Given the description of an element on the screen output the (x, y) to click on. 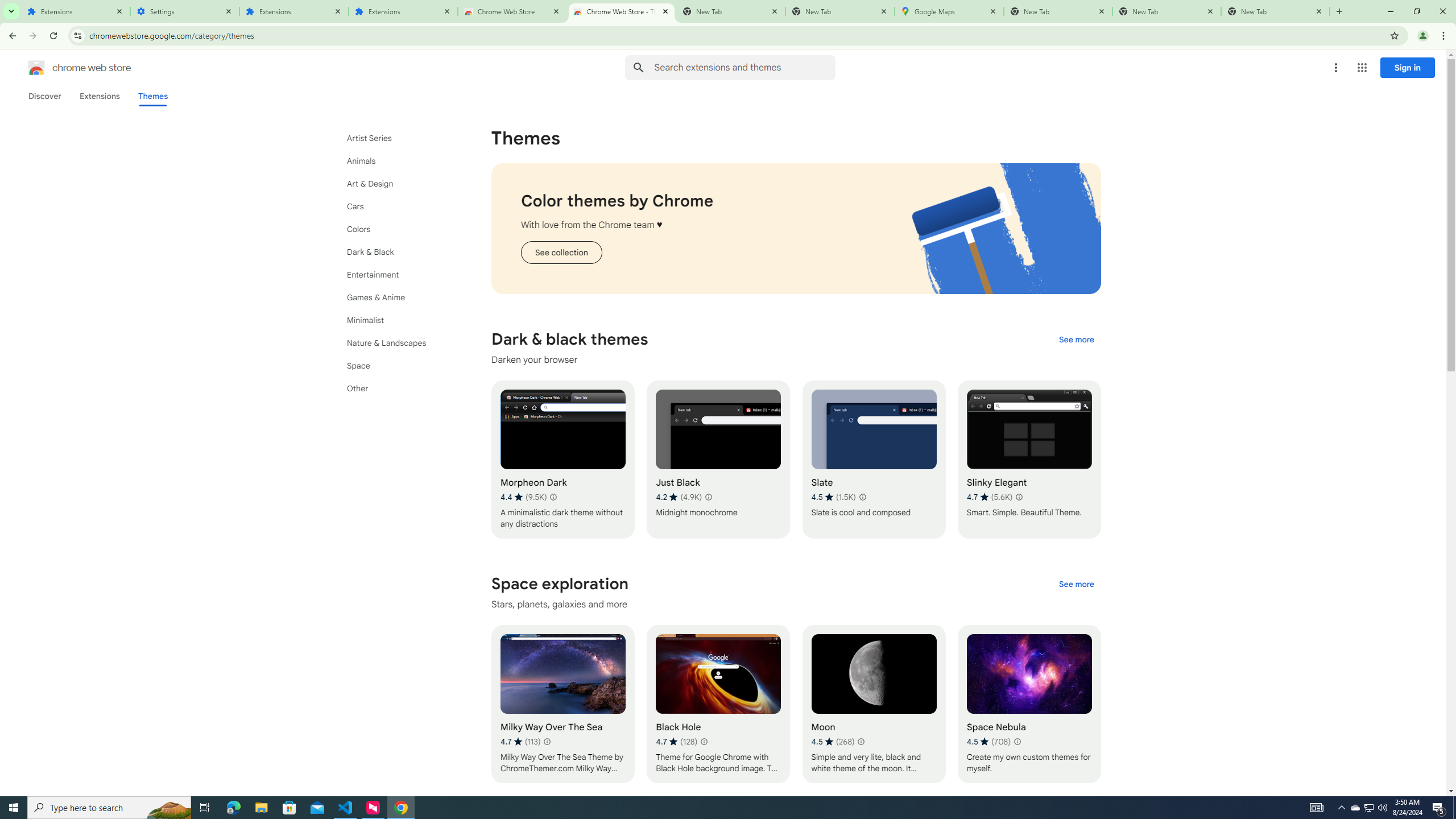
Average rating 4.5 out of 5 stars. 268 ratings. (832, 741)
Slate (873, 459)
Extensions (75, 11)
Discover (43, 95)
Colors (398, 228)
Artist Series (398, 137)
Learn more about results and reviews "Black Hole" (703, 741)
Average rating 4.7 out of 5 stars. 128 ratings. (676, 741)
New Tab (1058, 11)
Chrome Web Store - Themes (621, 11)
Extensions (403, 11)
